Given the description of an element on the screen output the (x, y) to click on. 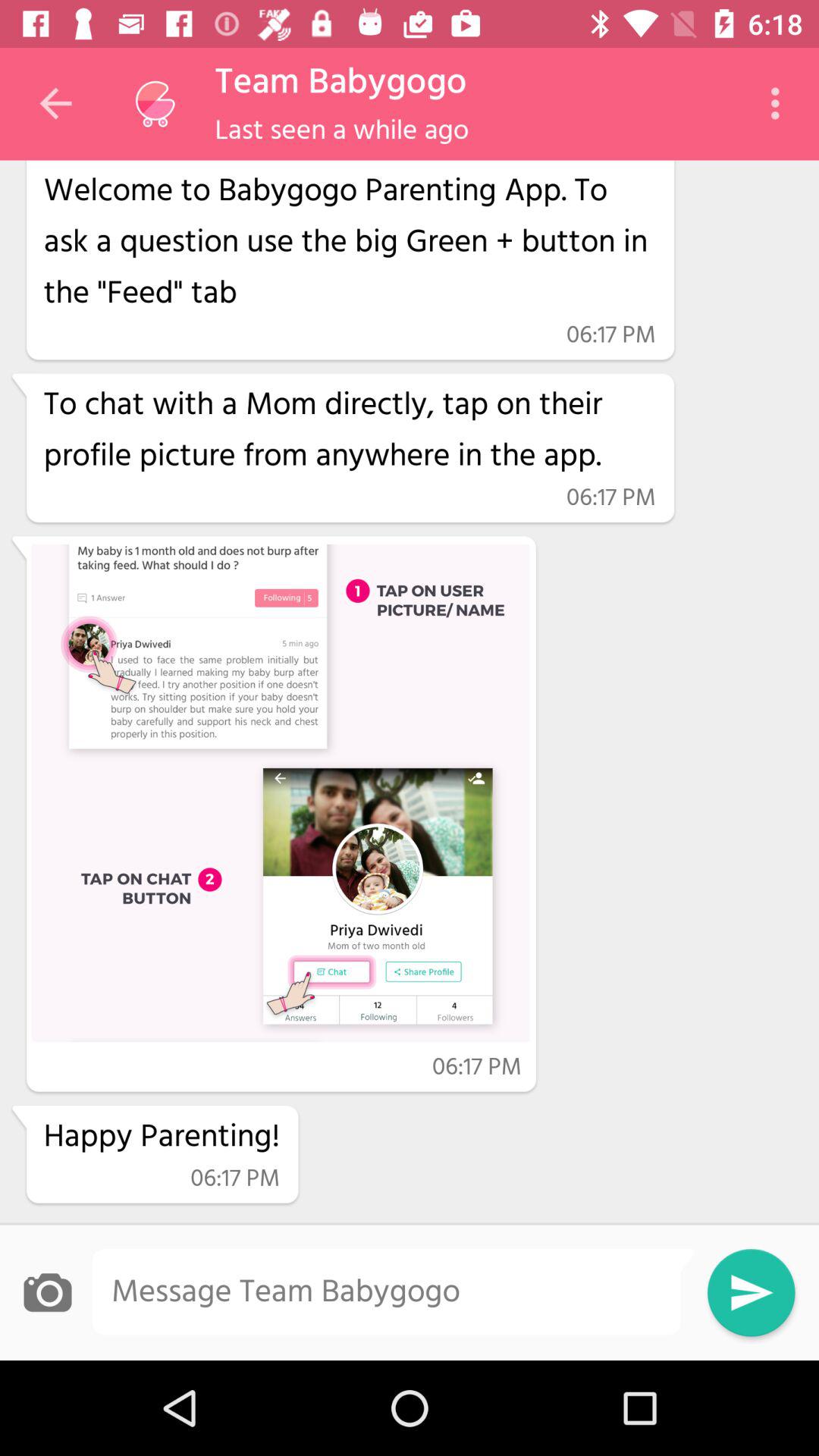
enter message (393, 1292)
